Given the description of an element on the screen output the (x, y) to click on. 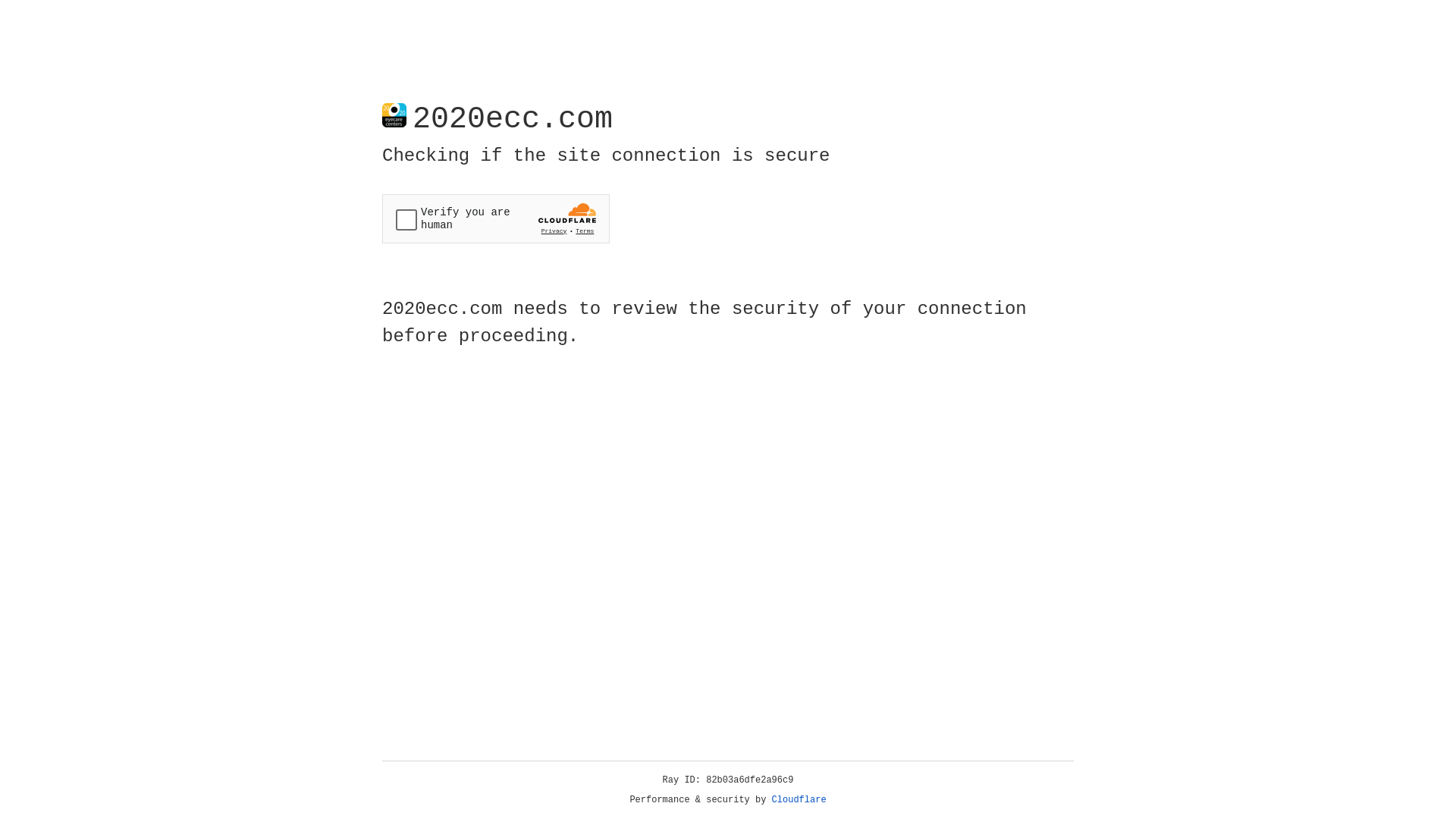
Widget containing a Cloudflare security challenge Element type: hover (495, 218)
Cloudflare Element type: text (798, 799)
